Given the description of an element on the screen output the (x, y) to click on. 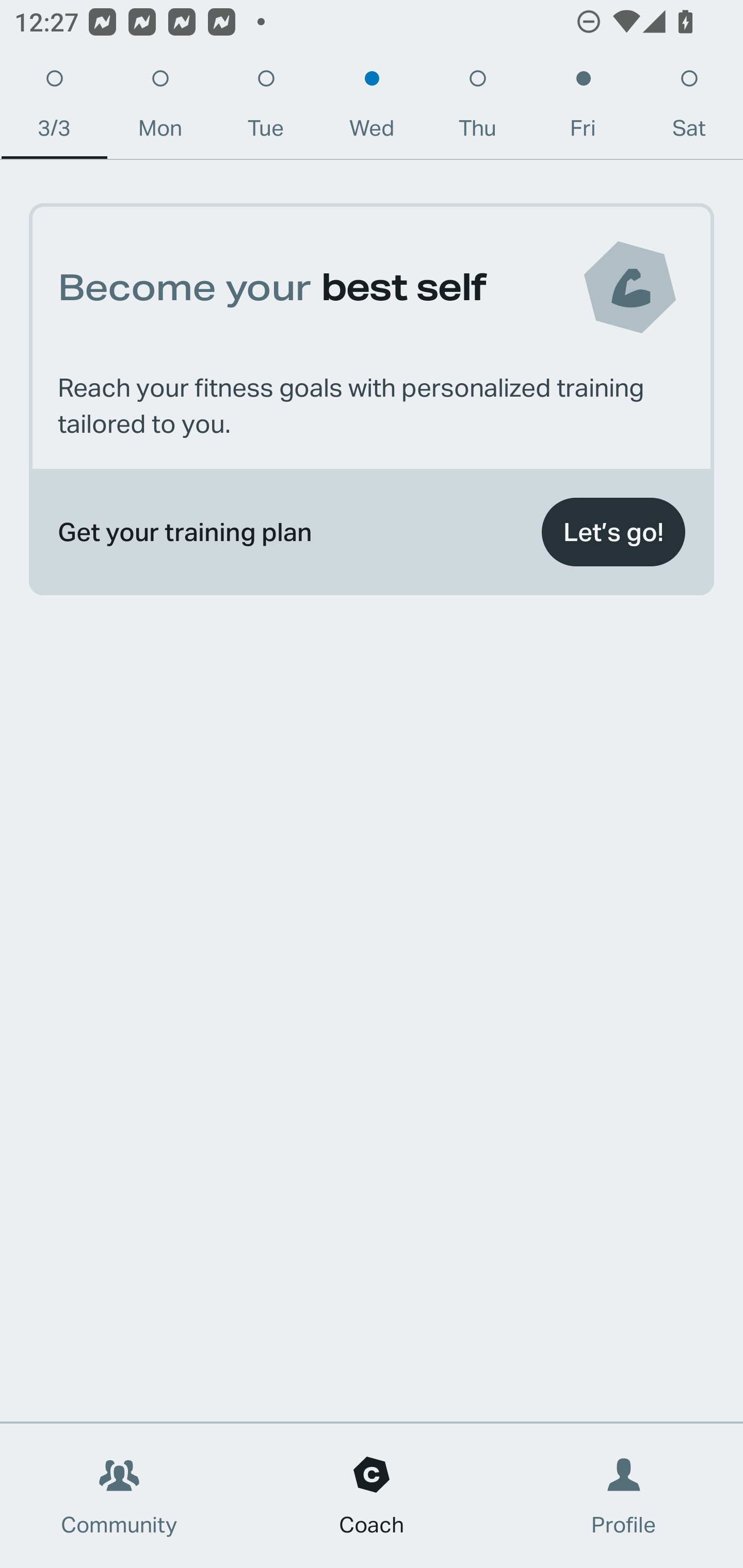
3/3 (53, 108)
Mon (159, 108)
Tue (265, 108)
Wed (371, 108)
Thu (477, 108)
Fri (583, 108)
Sat (689, 108)
Let’s go! (613, 532)
Community (119, 1495)
Profile (624, 1495)
